Given the description of an element on the screen output the (x, y) to click on. 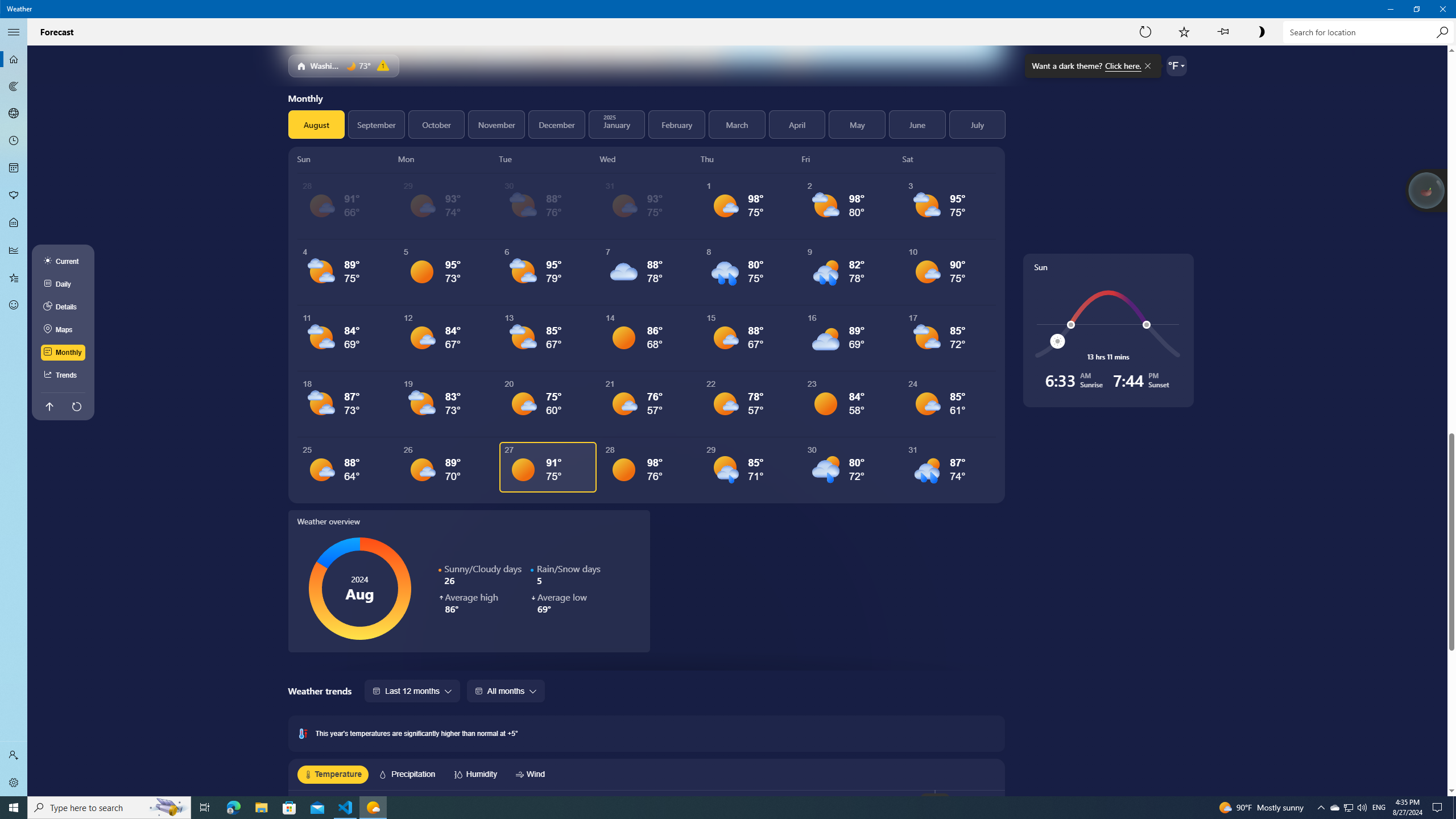
Maps - Not Selected (13, 85)
Close Weather (1333, 807)
User Promoted Notification Area (1442, 9)
Life - Not Selected (1347, 807)
Search highlights icon opens search home window (13, 222)
Task View (167, 807)
Turn on dark theme (204, 807)
Minimize Weather (1261, 31)
Hourly Forecast - Not Selected (1390, 9)
Restore Weather (13, 140)
Historical Weather - Not Selected (1416, 9)
Collapse Navigation (13, 249)
Hourly Forecast - Not Selected (13, 31)
3D Maps - Not Selected (13, 140)
